Given the description of an element on the screen output the (x, y) to click on. 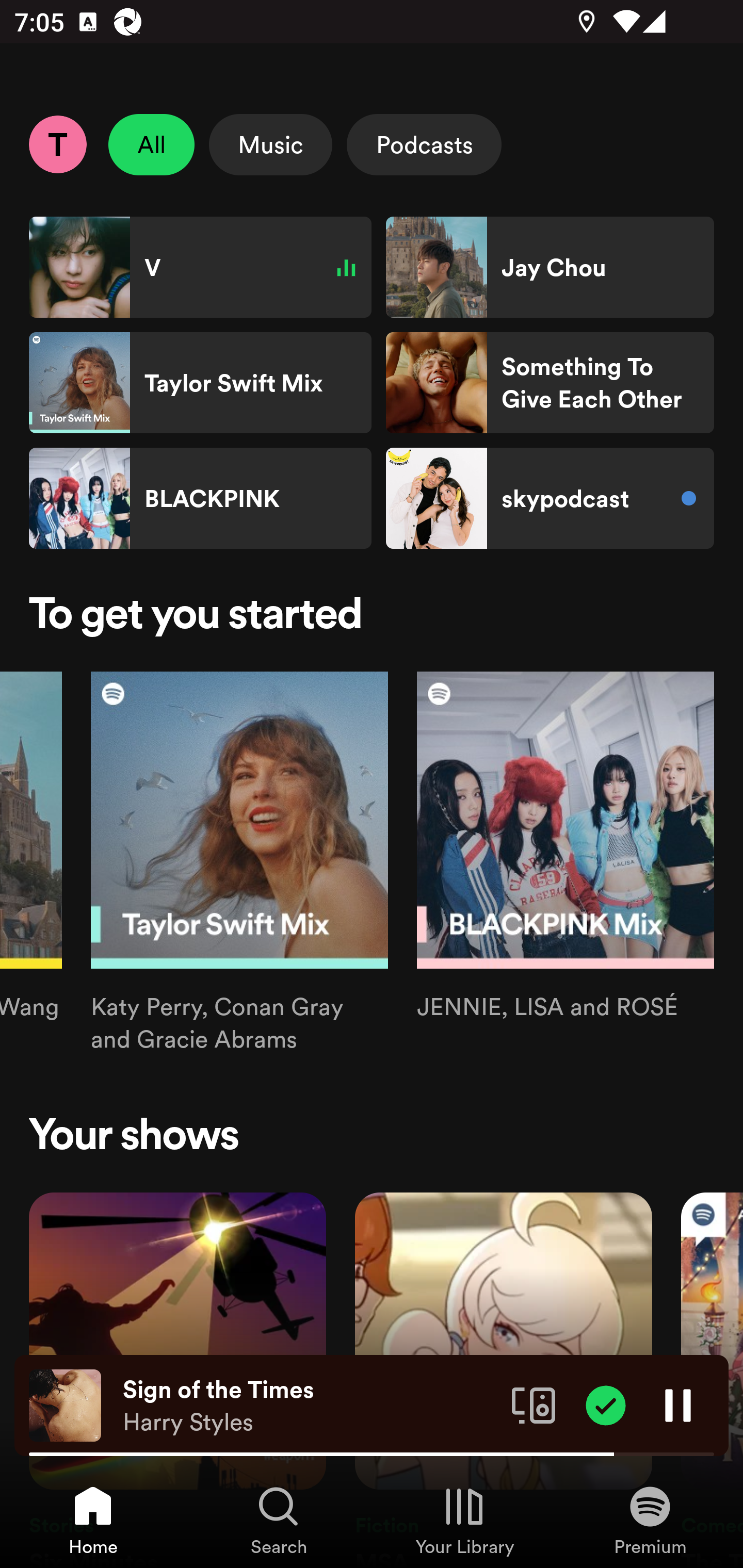
Profile (57, 144)
All Unselect All (151, 144)
Music Select Music (270, 144)
Podcasts Select Podcasts (423, 144)
V Shortcut V Playing (199, 267)
Jay Chou Shortcut Jay Chou (549, 267)
Taylor Swift Mix Shortcut Taylor Swift Mix (199, 382)
BLACKPINK Shortcut BLACKPINK (199, 498)
skypodcast Shortcut skypodcast New content (549, 498)
Sign of the Times Harry Styles (309, 1405)
The cover art of the currently playing track (64, 1404)
Connect to a device. Opens the devices menu (533, 1404)
Item added (605, 1404)
Pause (677, 1404)
Home, Tab 1 of 4 Home Home (92, 1519)
Search, Tab 2 of 4 Search Search (278, 1519)
Your Library, Tab 3 of 4 Your Library Your Library (464, 1519)
Premium, Tab 4 of 4 Premium Premium (650, 1519)
